Given the description of an element on the screen output the (x, y) to click on. 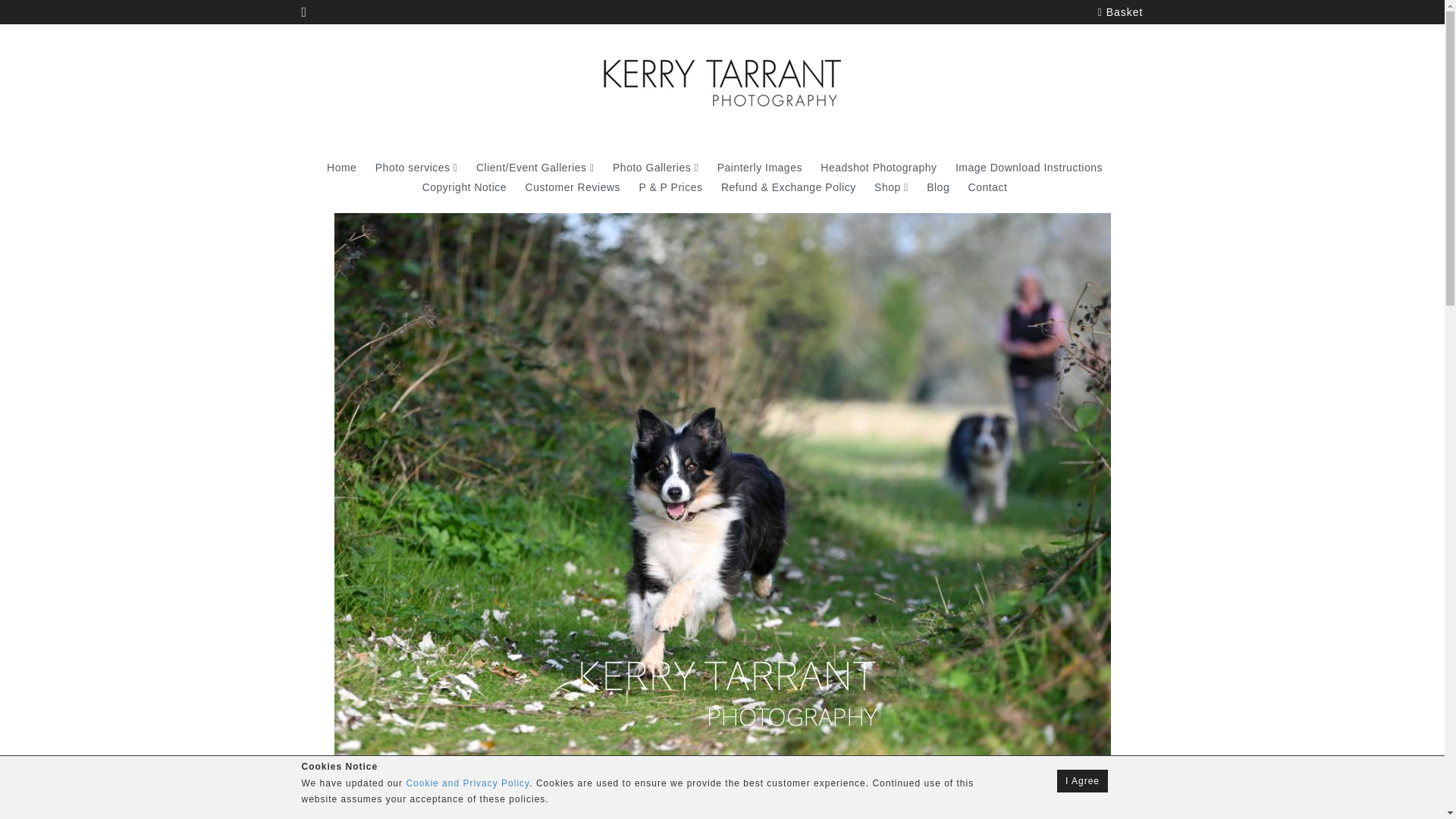
Photo services (416, 167)
Headshot Photography (878, 167)
Basket (1119, 12)
Painterly Images (759, 167)
Photo Galleries (655, 167)
Home (341, 167)
